Given the description of an element on the screen output the (x, y) to click on. 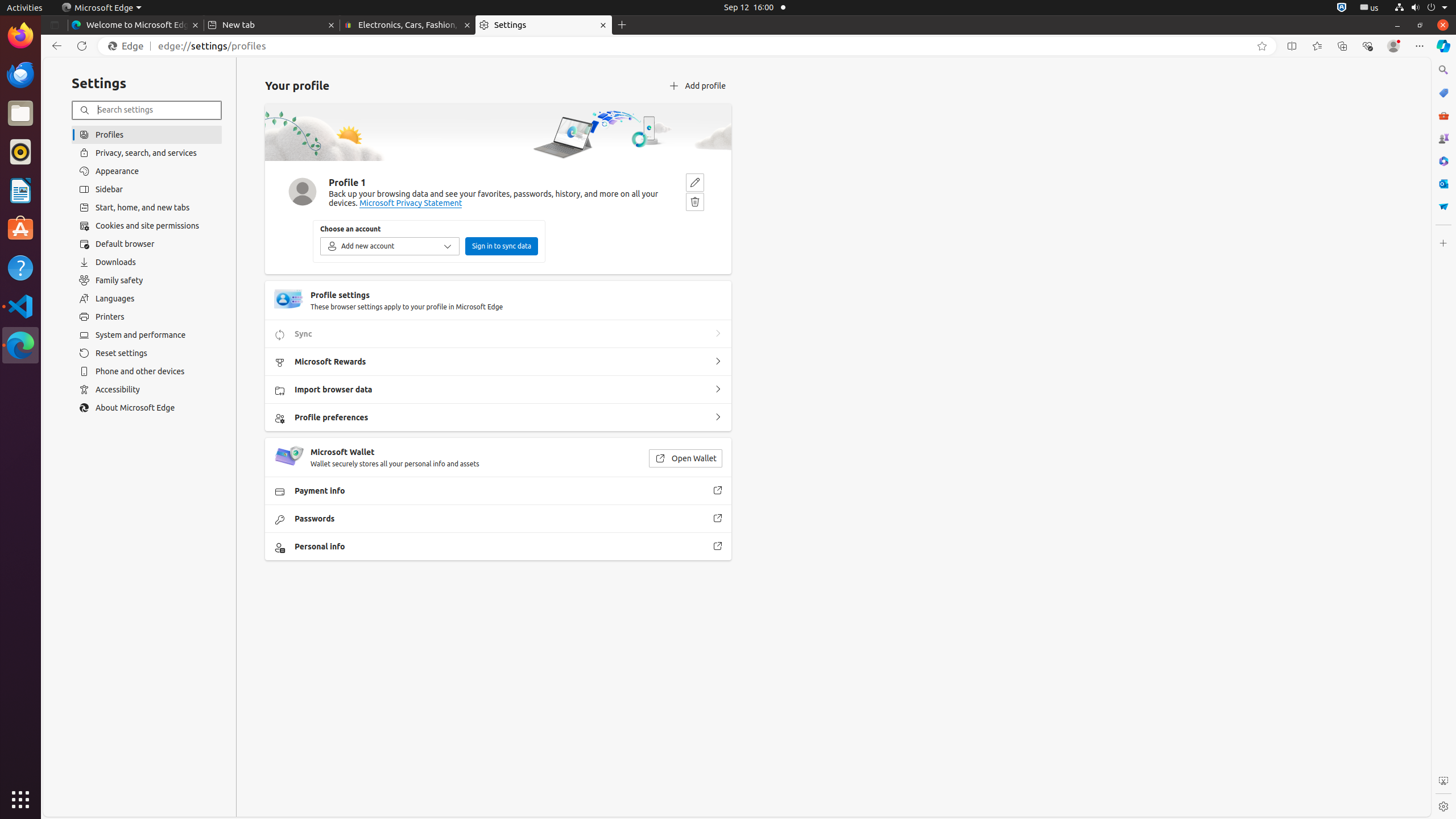
Sidebar Element type: tree-item (146, 189)
Passwords Element type: push-button (717, 518)
Edit Element type: push-button (694, 182)
Microsoft 365 Element type: push-button (1443, 160)
Tab actions menu Element type: push-button (54, 24)
